Given the description of an element on the screen output the (x, y) to click on. 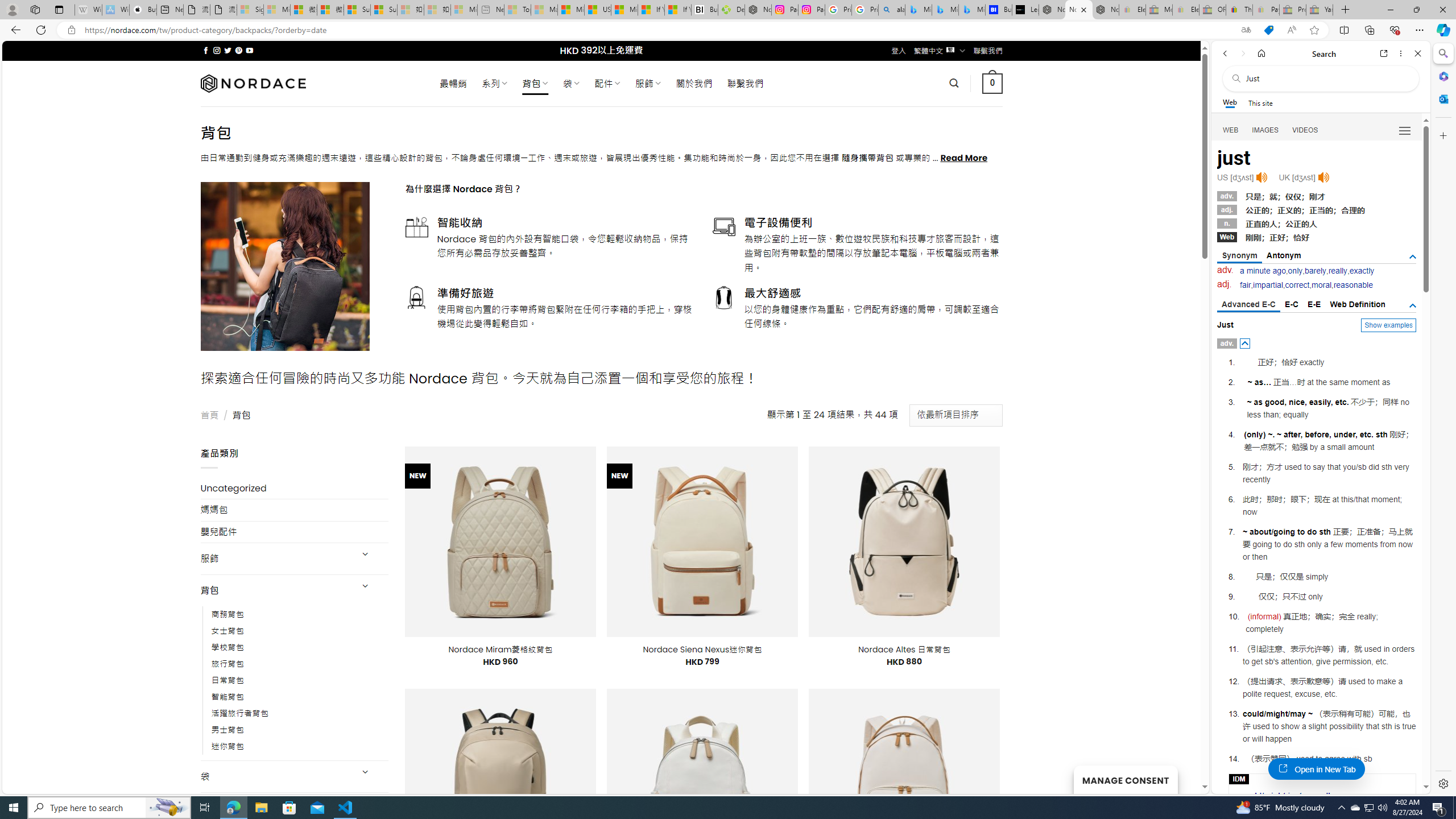
 0  (992, 83)
US Heat Deaths Soared To Record High Last Year (597, 9)
moral (1321, 284)
a minute ago (1262, 270)
